Given the description of an element on the screen output the (x, y) to click on. 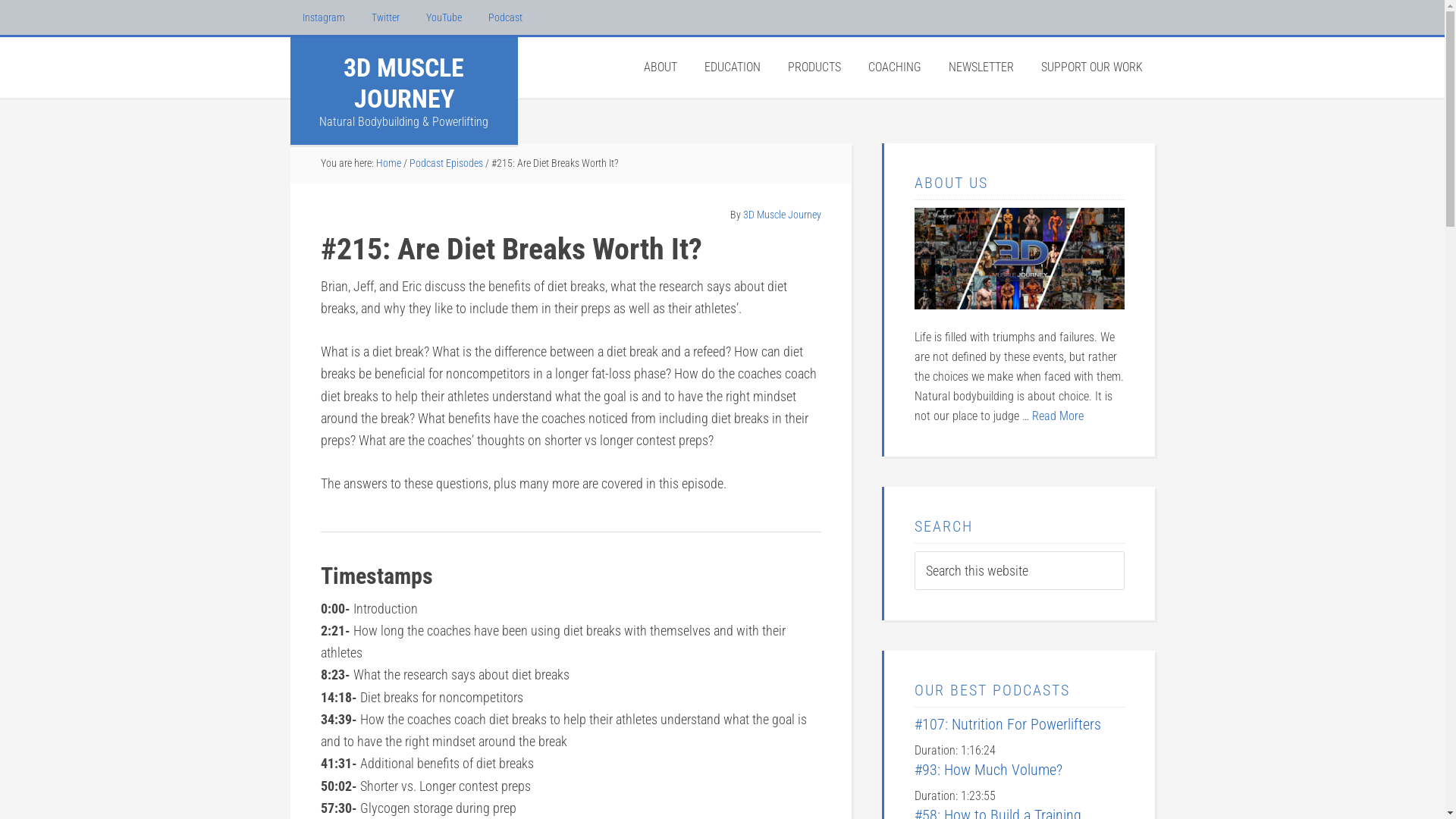
3D Muscle Journey Element type: text (782, 214)
EDUCATION Element type: text (731, 67)
#107: Nutrition For Powerlifters Element type: text (1007, 724)
Read More Element type: text (1056, 415)
#93: How Much Volume? Element type: text (988, 769)
YouTube Element type: text (443, 17)
SUPPORT OUR WORK Element type: text (1091, 67)
Instagram Element type: text (322, 17)
NEWSLETTER Element type: text (980, 67)
Podcast Episodes Element type: text (446, 162)
PRODUCTS Element type: text (813, 67)
Home Element type: text (388, 162)
ABOUT Element type: text (659, 67)
COACHING Element type: text (893, 67)
Podcast Element type: text (505, 17)
3D MUSCLE JOURNEY Element type: text (403, 82)
Search Element type: text (1123, 550)
Twitter Element type: text (385, 17)
